Given the description of an element on the screen output the (x, y) to click on. 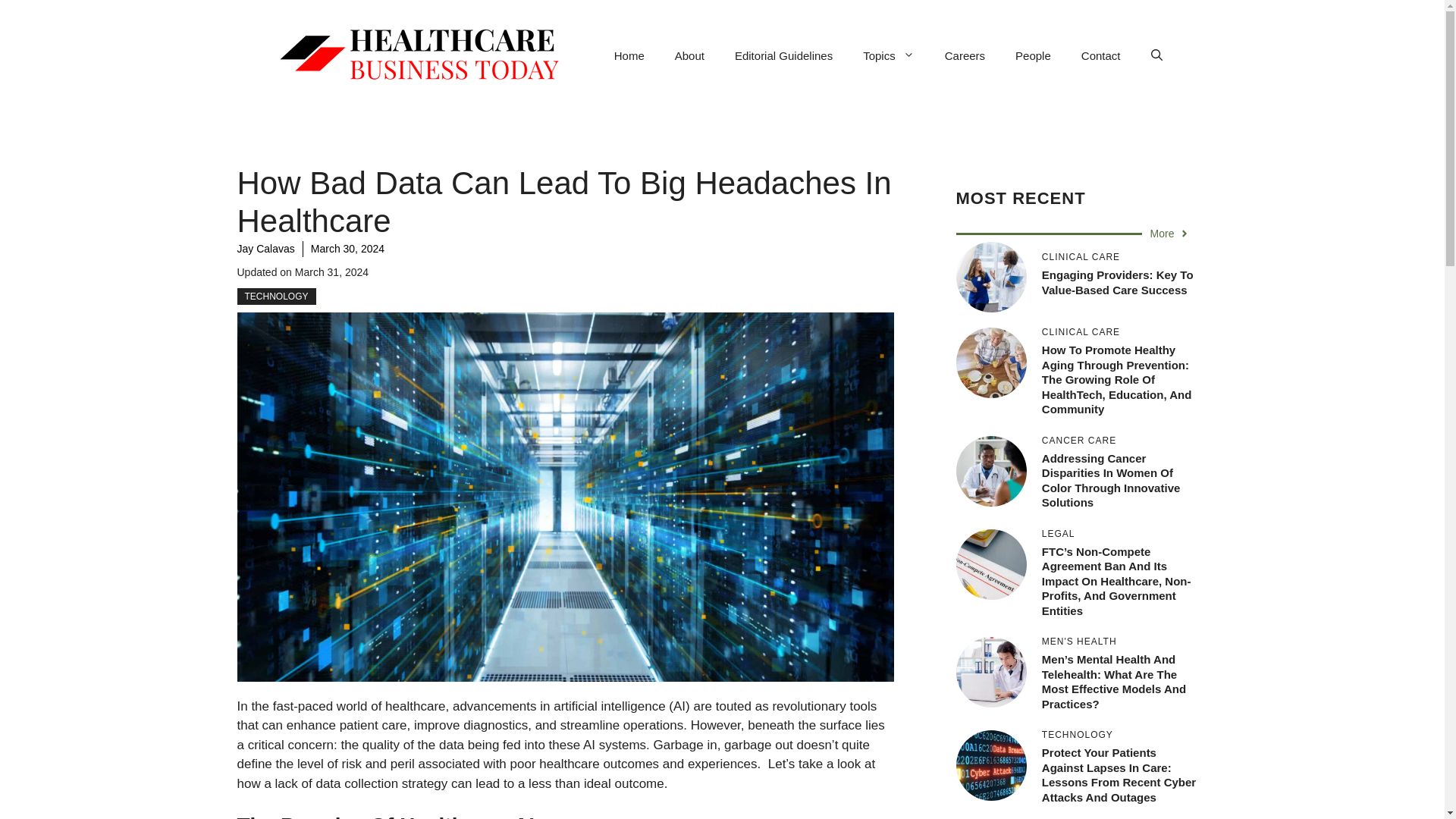
Careers (965, 55)
Engaging Providers: Key To Value-Based Care Success (1117, 282)
About (689, 55)
People (1032, 55)
TECHNOLOGY (275, 296)
Topics (888, 55)
Contact (1100, 55)
Editorial Guidelines (783, 55)
